Given the description of an element on the screen output the (x, y) to click on. 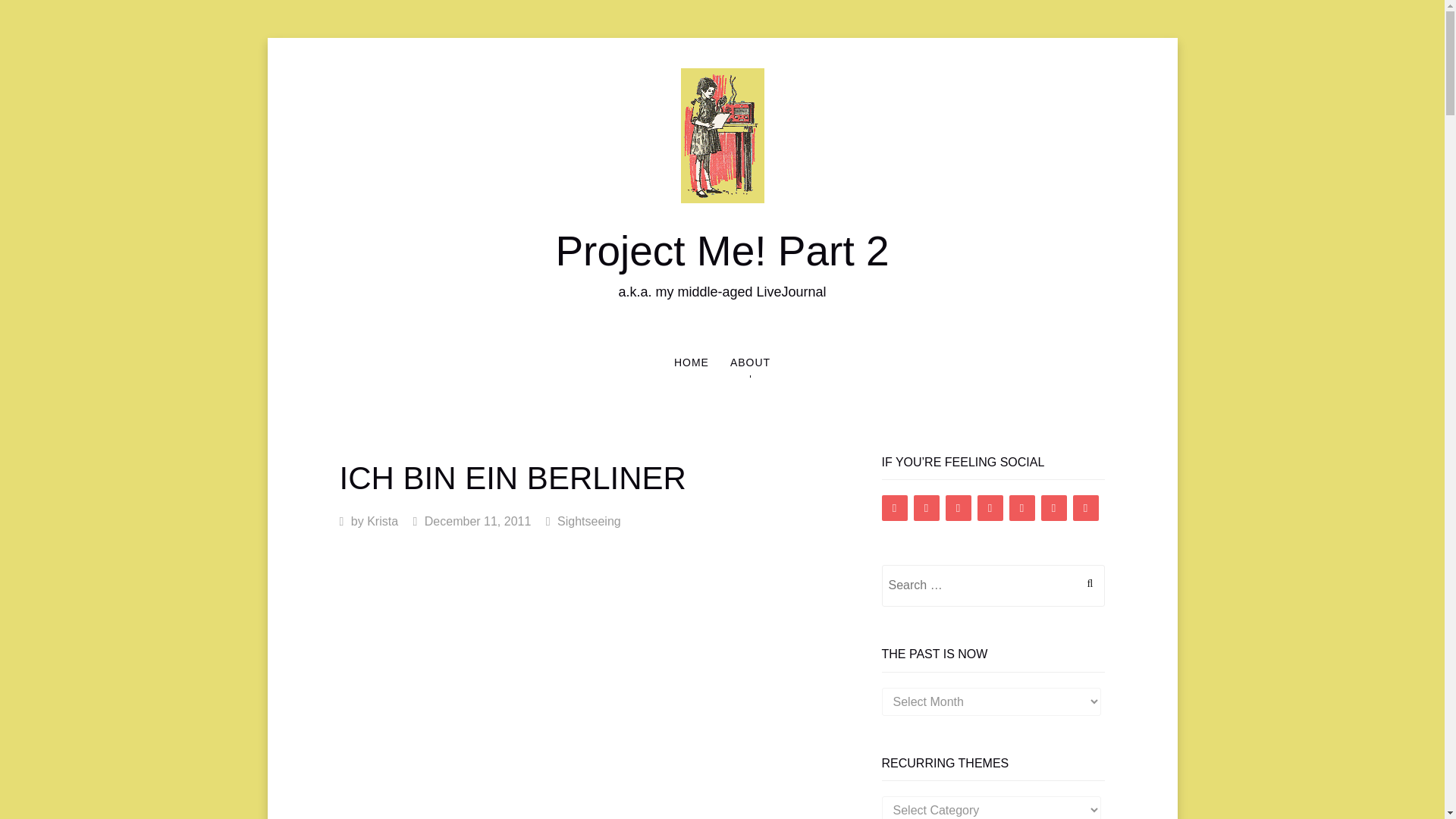
December 11, 2011 (478, 521)
Project Me! Part 2 (722, 133)
ABOUT (749, 362)
Contact (1053, 507)
RSS (1084, 507)
Krista (381, 521)
Sightseeing (589, 521)
Flickr (1021, 507)
Instagram (957, 507)
Facebook (893, 507)
